Given the description of an element on the screen output the (x, y) to click on. 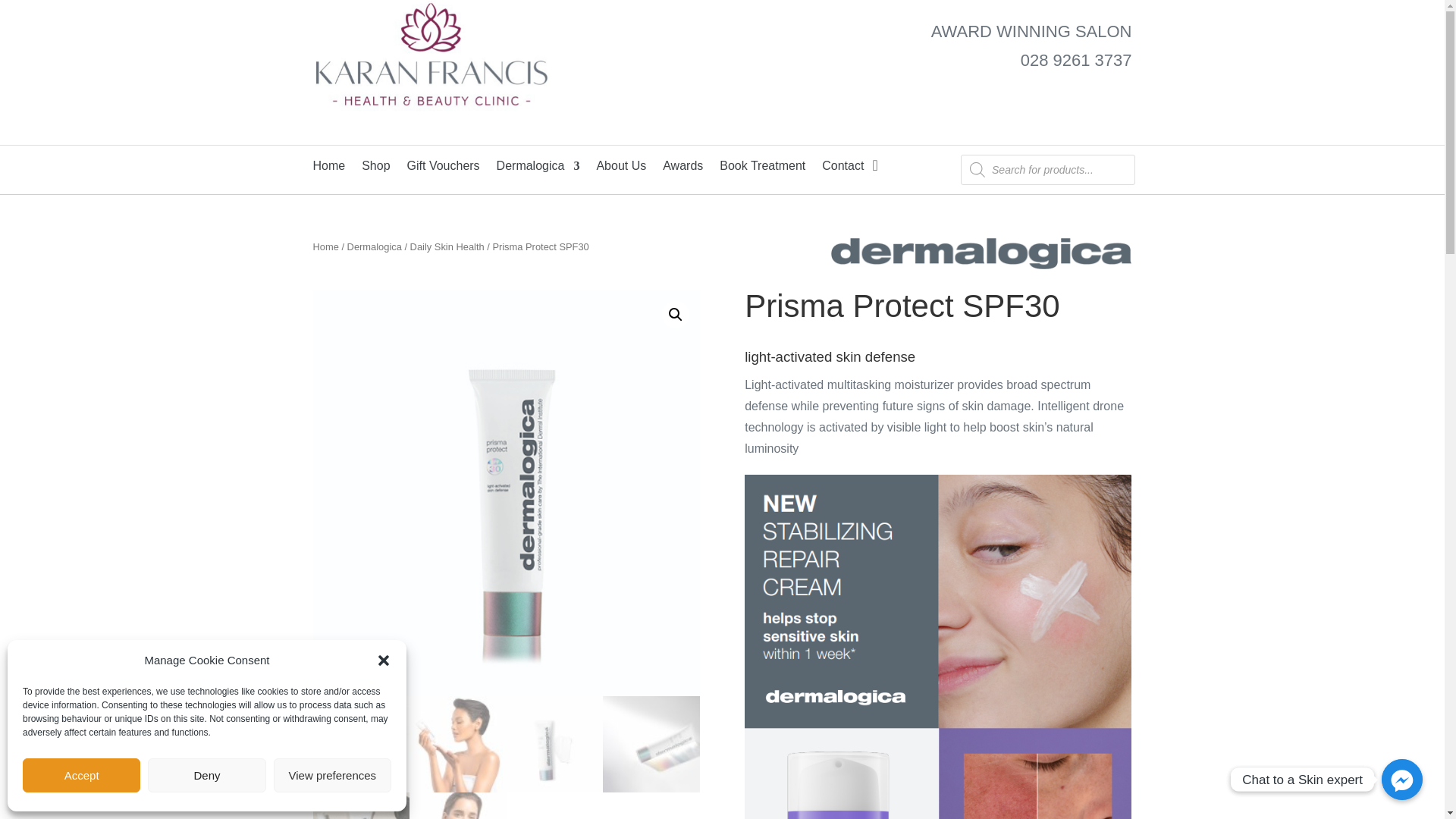
Awards (682, 168)
Book Treatment (762, 168)
SRC INFO TILE (937, 647)
About Us (620, 168)
dermalogica-dark-logo-footer (981, 254)
Shop (375, 168)
Home (329, 168)
View preferences (332, 775)
kf-logo-white (430, 62)
Contact (842, 168)
Deny (206, 775)
Gift Vouchers (443, 168)
Dermalogica (537, 168)
Accept (81, 775)
